Given the description of an element on the screen output the (x, y) to click on. 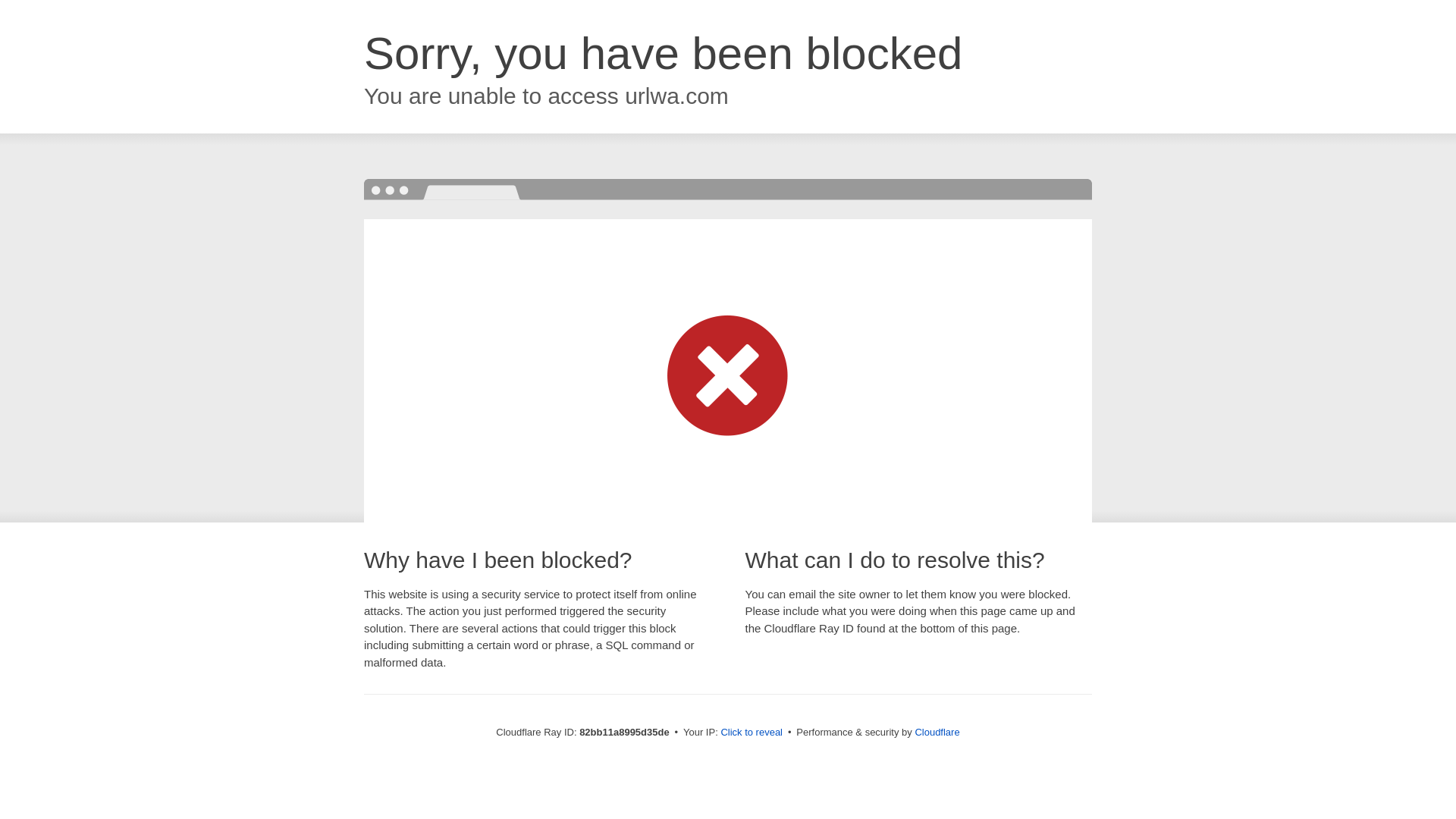
Click to reveal Element type: text (751, 732)
Cloudflare Element type: text (936, 731)
